Given the description of an element on the screen output the (x, y) to click on. 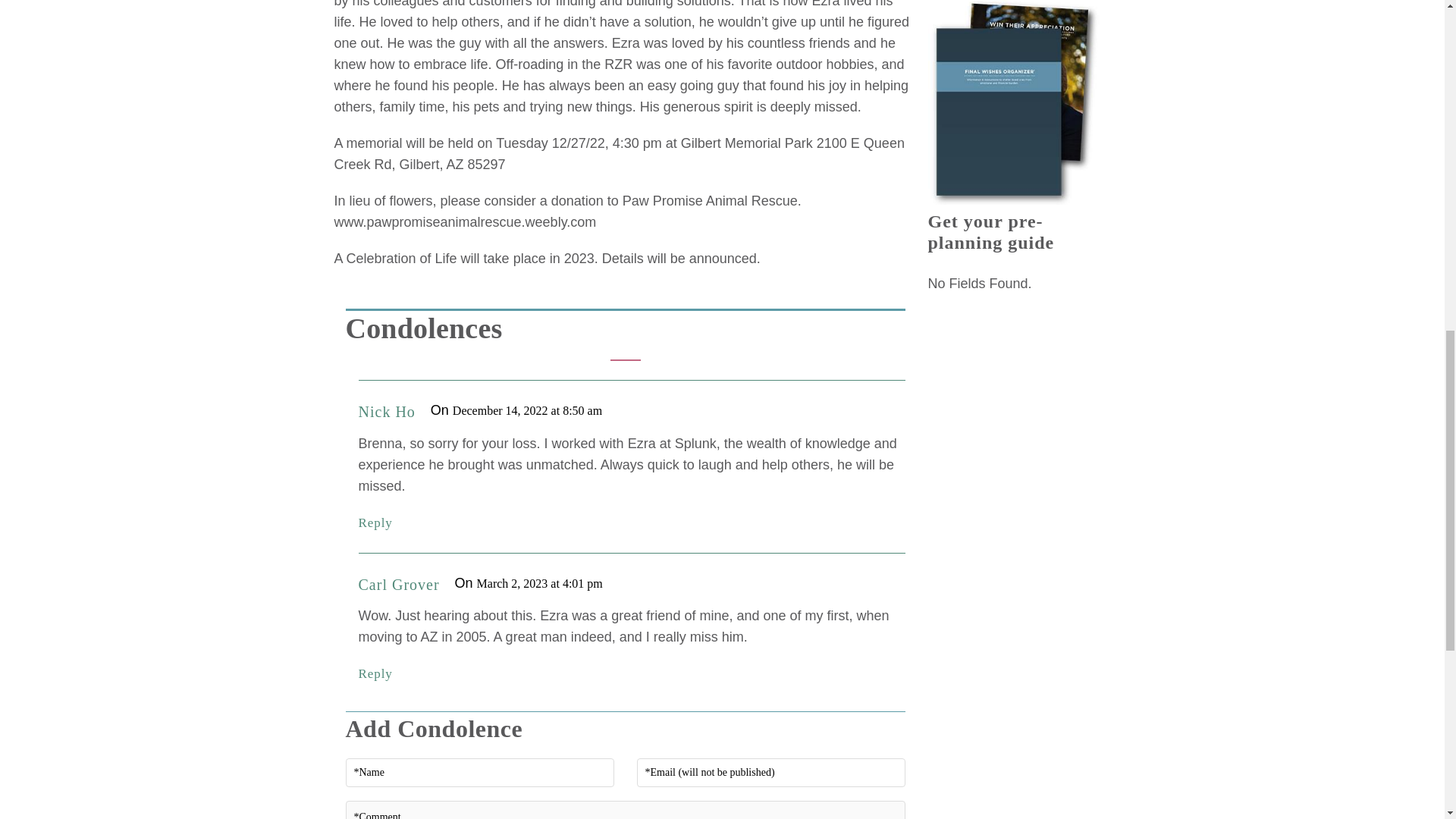
March 2, 2023 at 4:01 pm (539, 583)
Reply (374, 673)
December 14, 2022 at 8:50 am (527, 410)
Reply (374, 522)
